Given the description of an element on the screen output the (x, y) to click on. 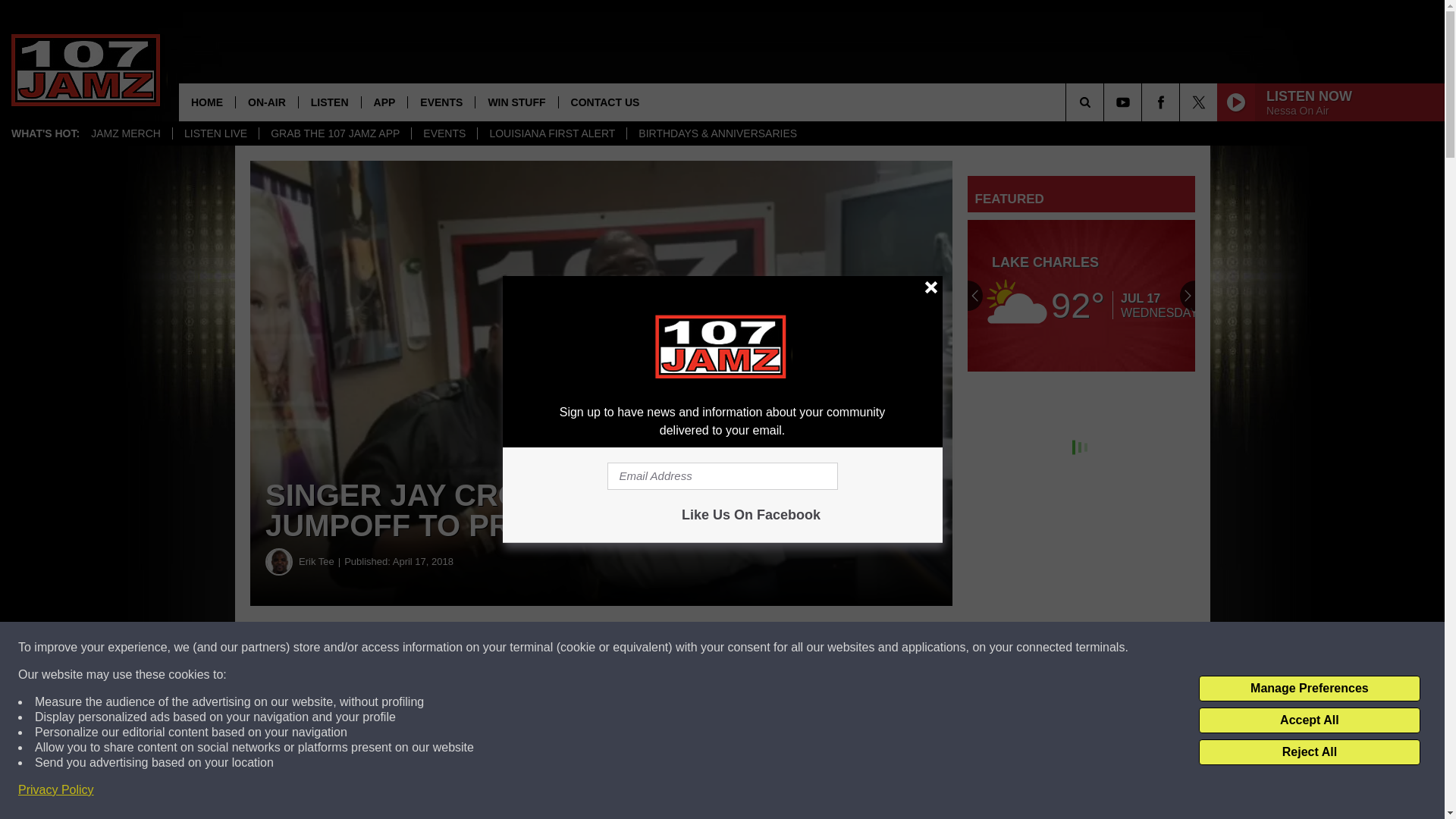
APP (384, 102)
SEARCH (1106, 102)
Reject All (1309, 751)
LOUISIANA FIRST ALERT (551, 133)
Email Address (722, 475)
GRAB THE 107 JAMZ APP (334, 133)
EVENTS (443, 133)
Lake Charles Weather (1081, 295)
Share on Twitter (741, 647)
ON-AIR (266, 102)
LISTEN (329, 102)
Accept All (1309, 720)
HOME (206, 102)
Privacy Policy (55, 789)
EVENTS (440, 102)
